Given the description of an element on the screen output the (x, y) to click on. 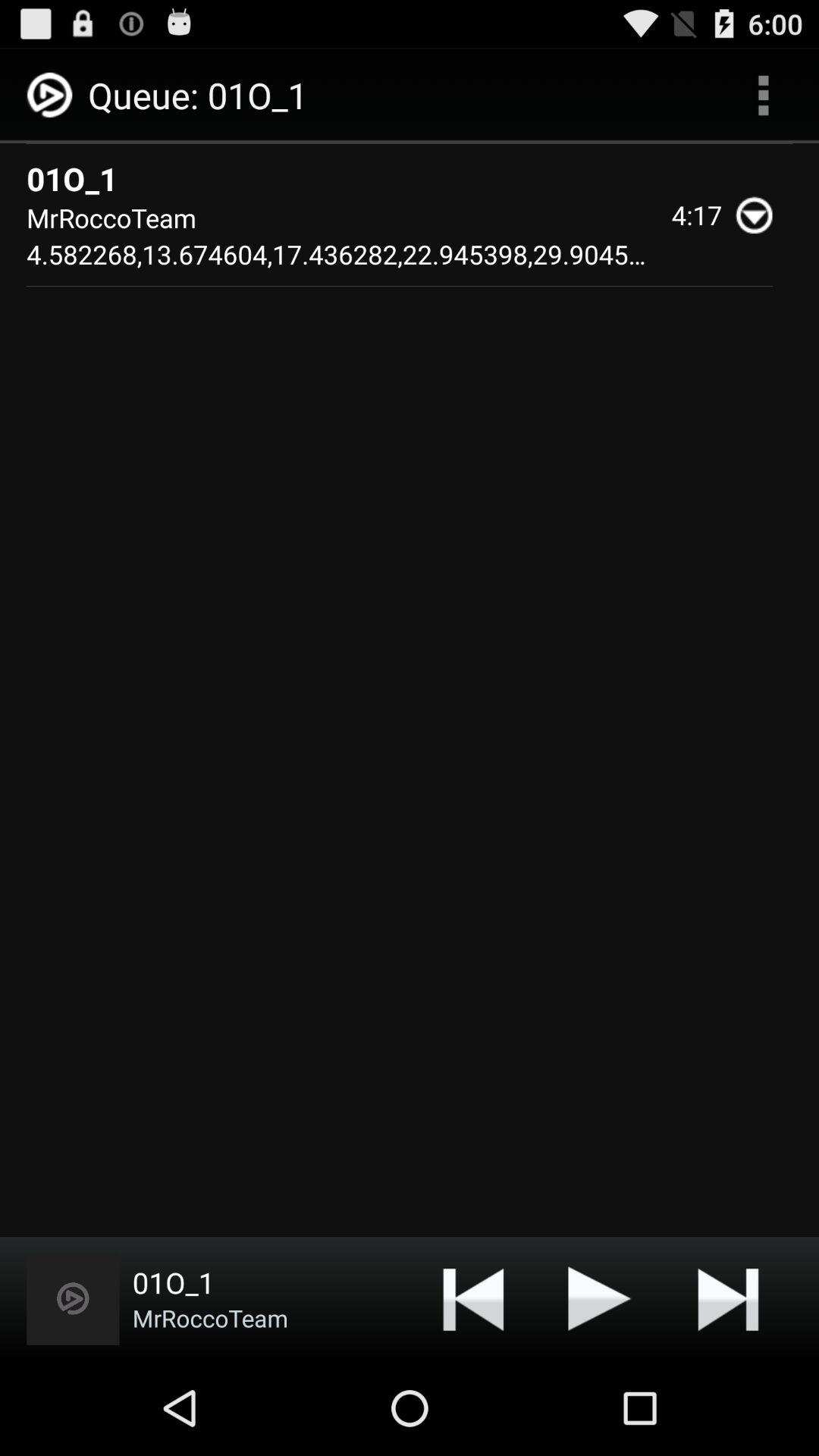
launch icon at the bottom (472, 1298)
